Given the description of an element on the screen output the (x, y) to click on. 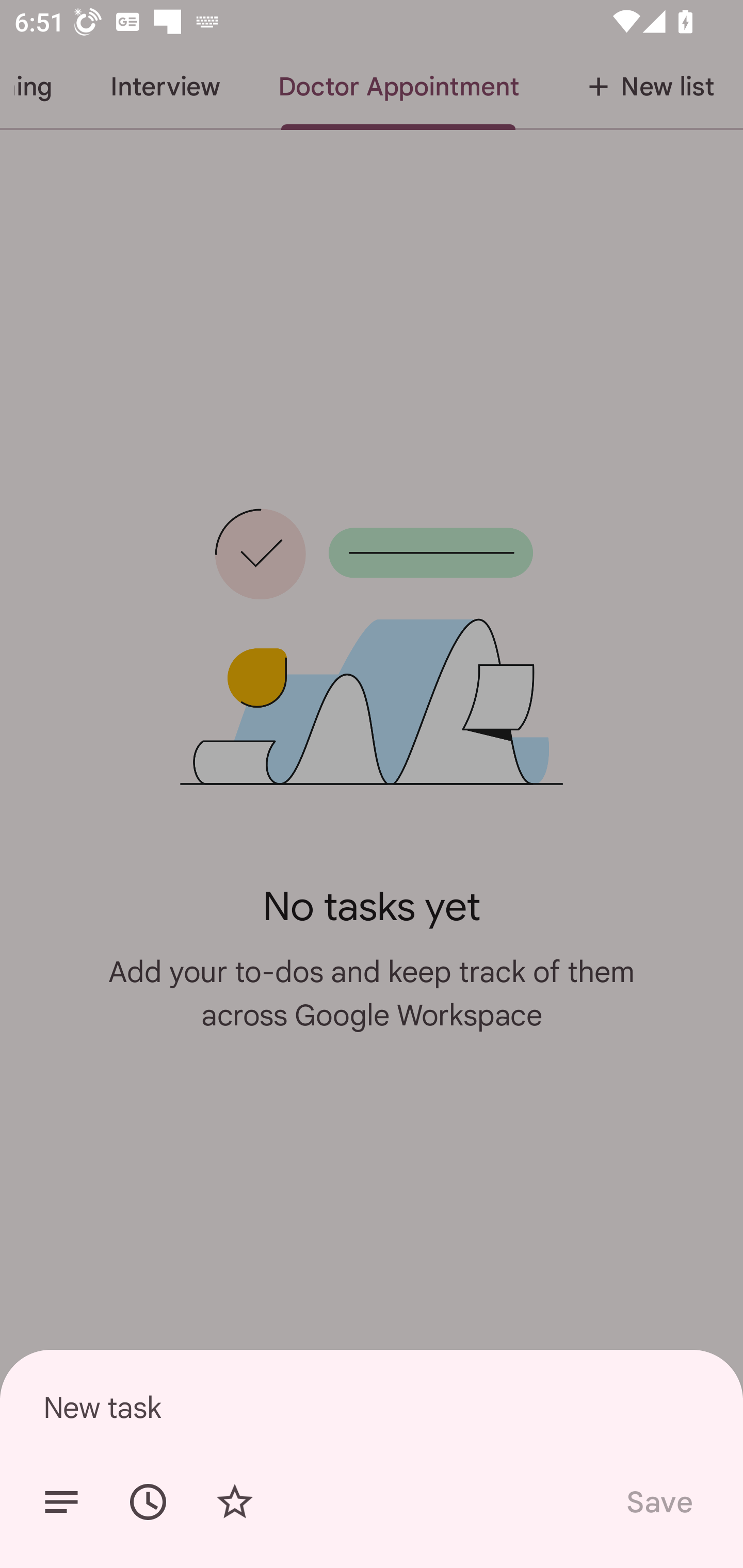
New task (371, 1407)
Save (659, 1501)
Add details (60, 1501)
Set date/time (147, 1501)
Add star (234, 1501)
